Given the description of an element on the screen output the (x, y) to click on. 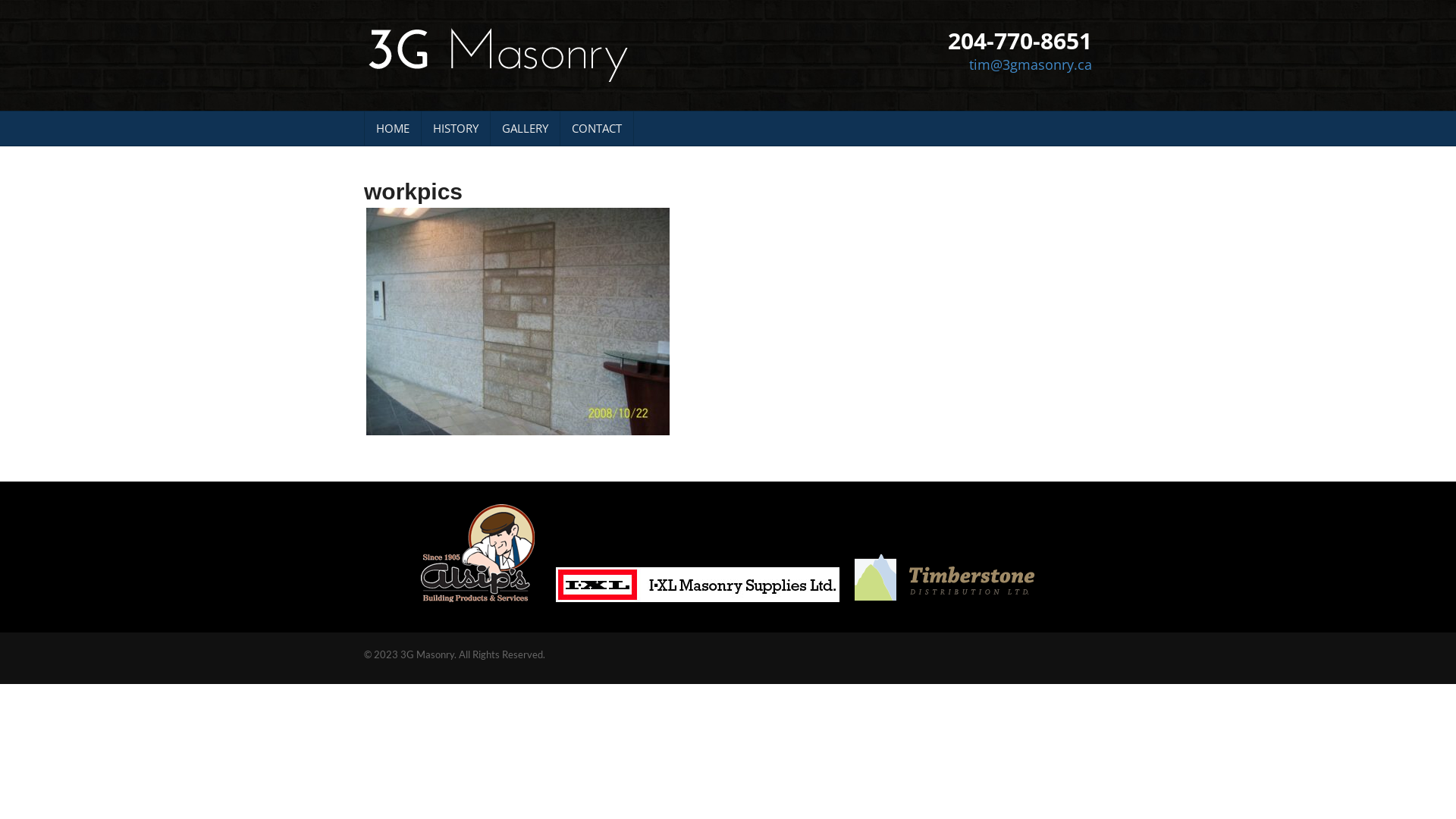
CONTACT Element type: text (596, 128)
GALLERY Element type: text (524, 128)
HISTORY Element type: text (455, 128)
HOME Element type: text (392, 128)
tim@3gmasonry.ca Element type: text (1030, 64)
